Given the description of an element on the screen output the (x, y) to click on. 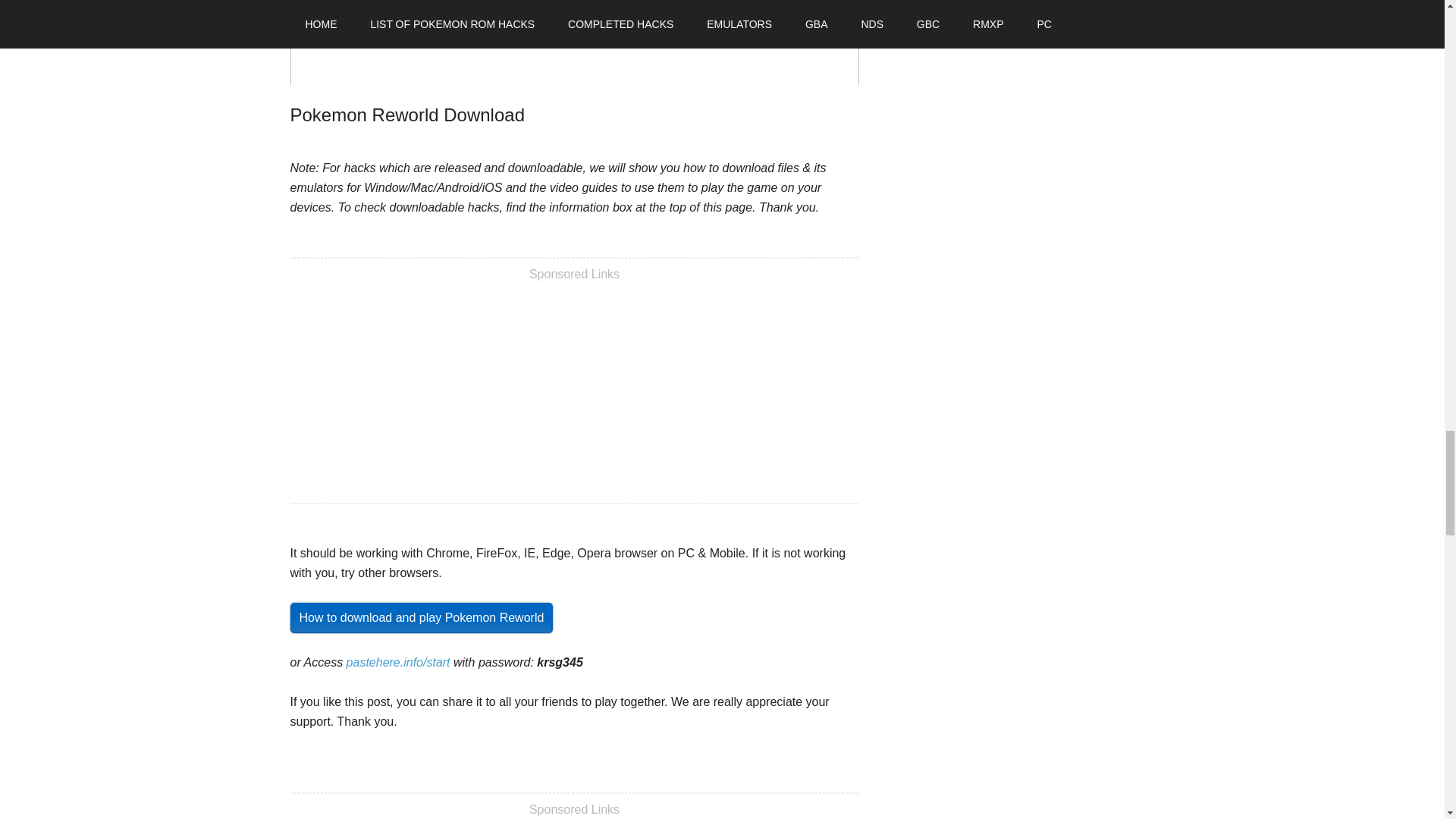
How to download and play Pokemon Reworld (421, 617)
